Given the description of an element on the screen output the (x, y) to click on. 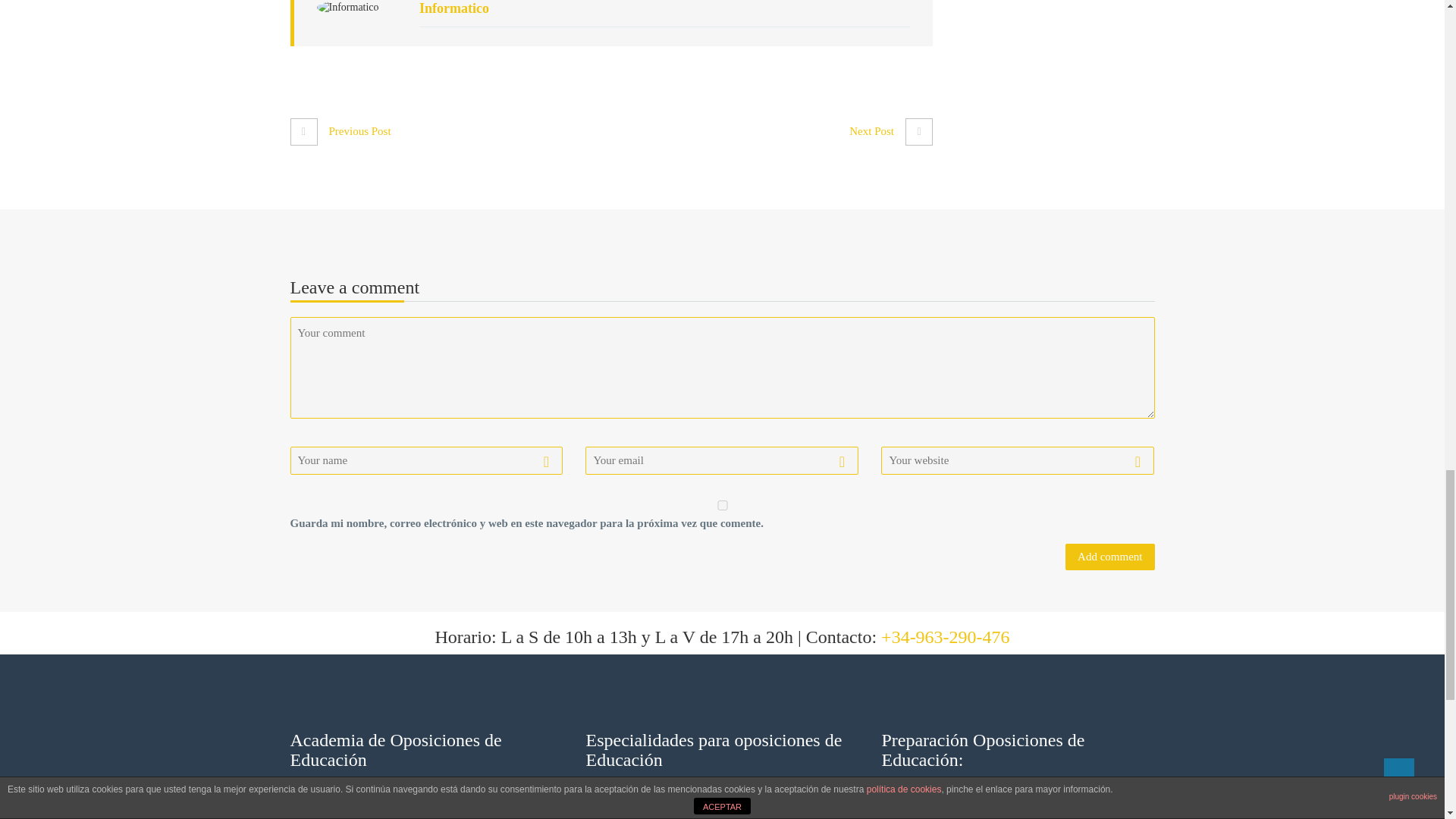
Add comment (1109, 556)
yes (721, 505)
